Given the description of an element on the screen output the (x, y) to click on. 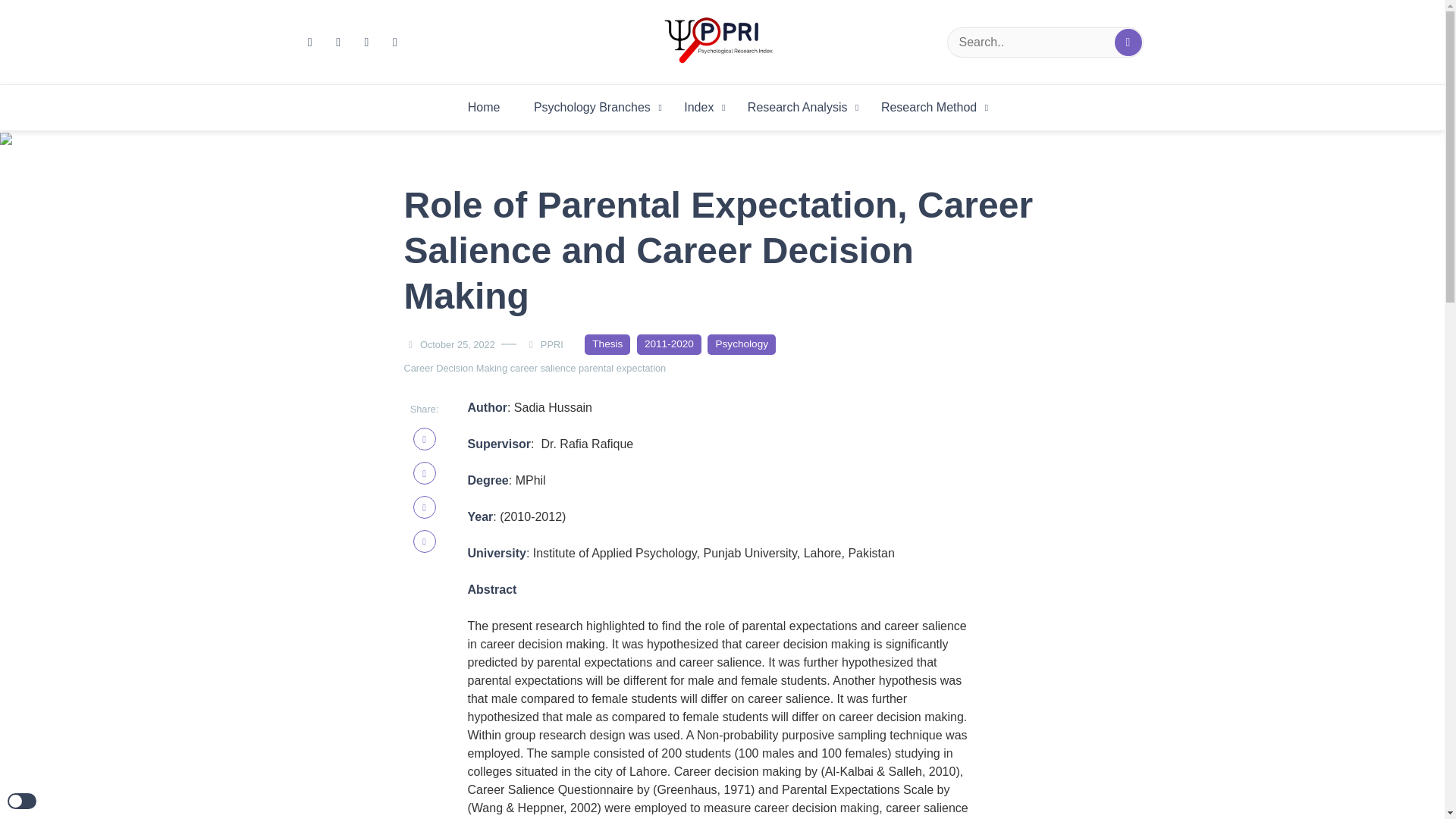
Psychology Branches (591, 107)
Home (483, 107)
Pakistan Psychological Research Index (985, 92)
